Given the description of an element on the screen output the (x, y) to click on. 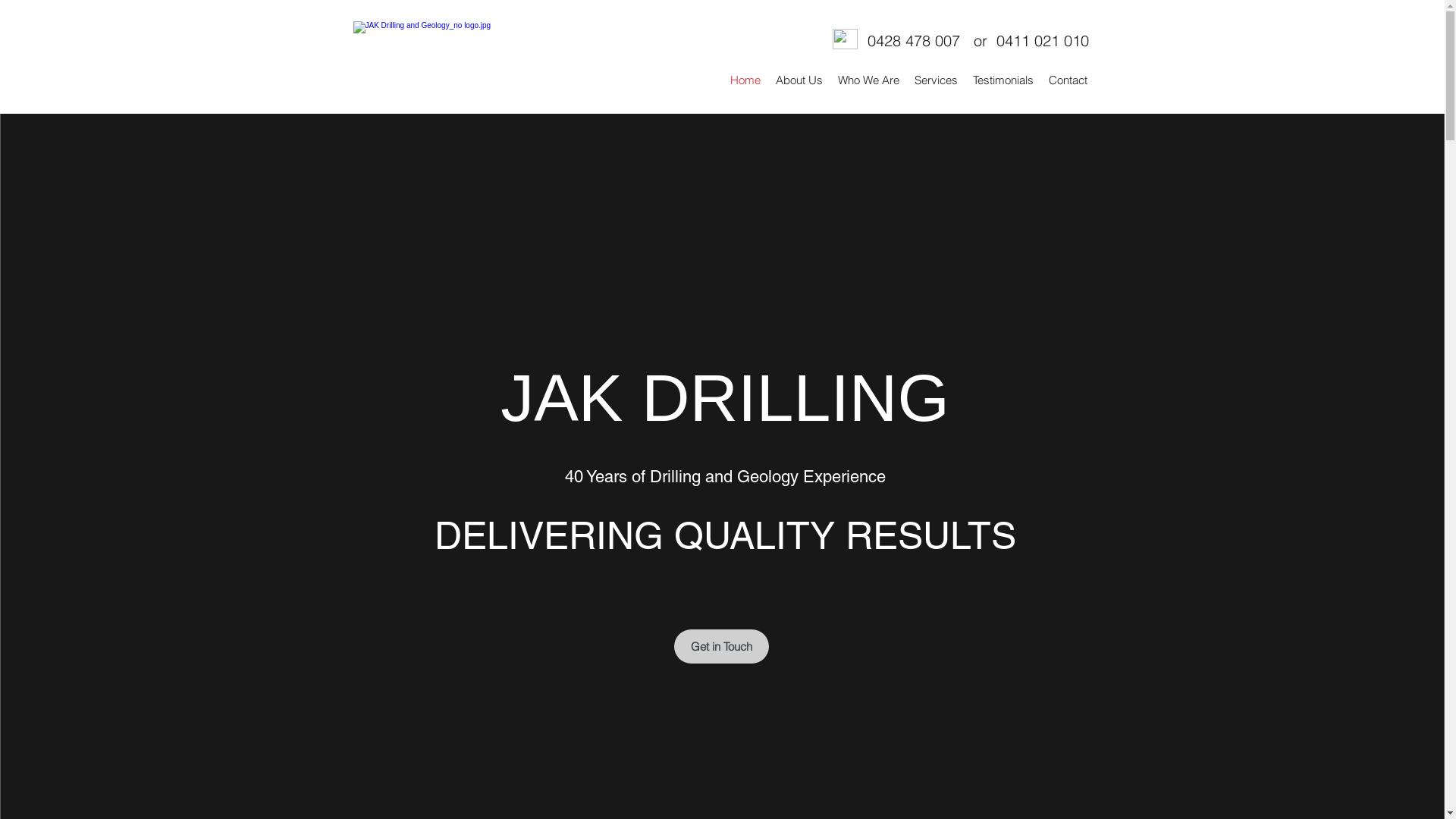
TWIPLA (Visitor Analytics) Element type: hover (728, 260)
Services Element type: text (935, 80)
Who We Are Element type: text (867, 80)
Get in Touch Element type: text (720, 646)
About Us Element type: text (798, 80)
Home Element type: text (744, 80)
Testimonials Element type: text (1002, 80)
Contact Element type: text (1067, 80)
